Given the description of an element on the screen output the (x, y) to click on. 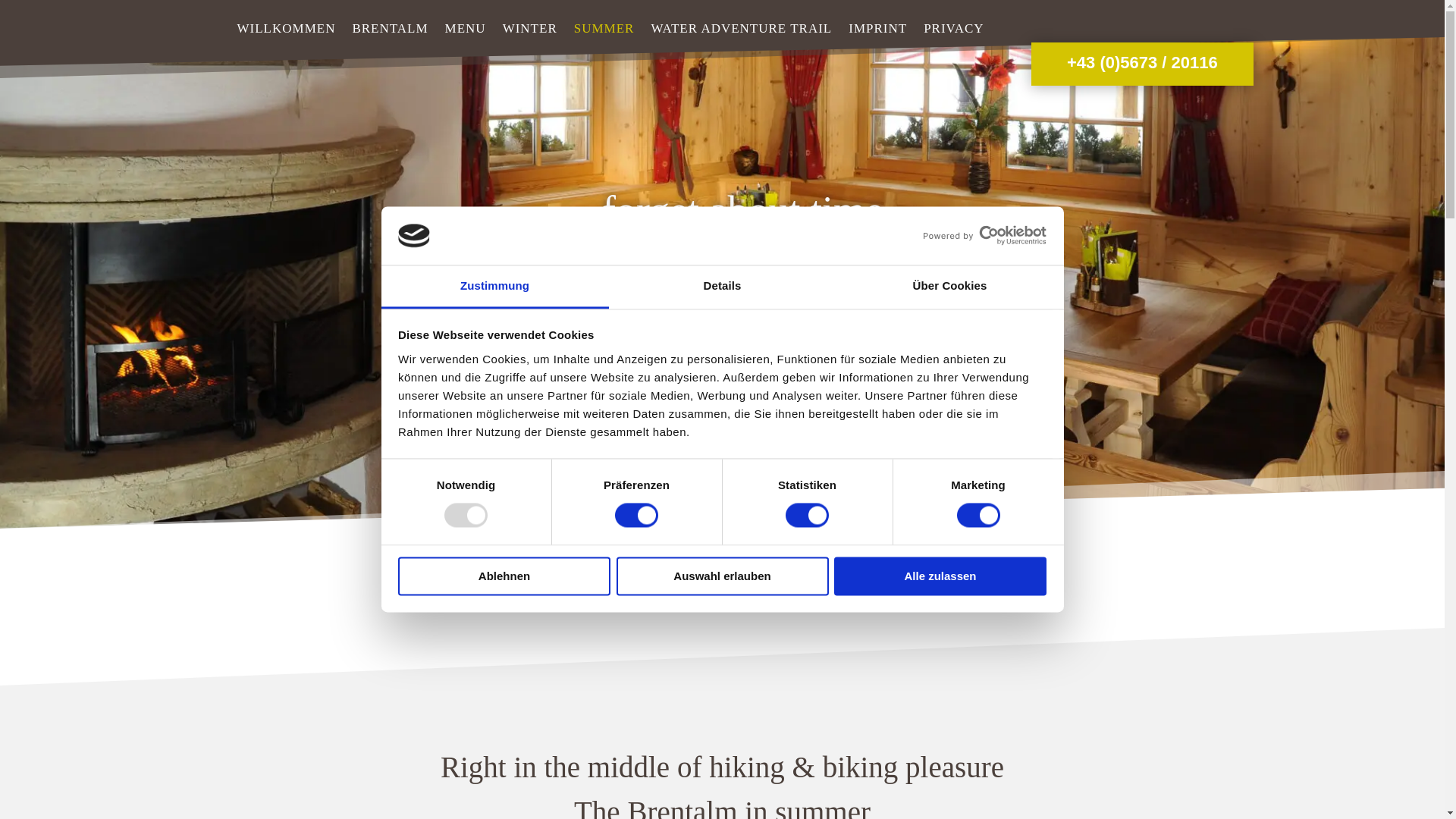
logo-ci-twisted (721, 581)
Details (721, 286)
Auswahl erlauben (721, 575)
Ablehnen (503, 575)
WILLKOMMEN (284, 28)
PRIVACY (953, 28)
Alle zulassen (940, 575)
WATER ADVENTURE TRAIL (740, 28)
BRENTALM (390, 28)
Zustimmung (494, 286)
SUMMER (603, 28)
IMPRINT (877, 28)
WINTER (529, 28)
